Given the description of an element on the screen output the (x, y) to click on. 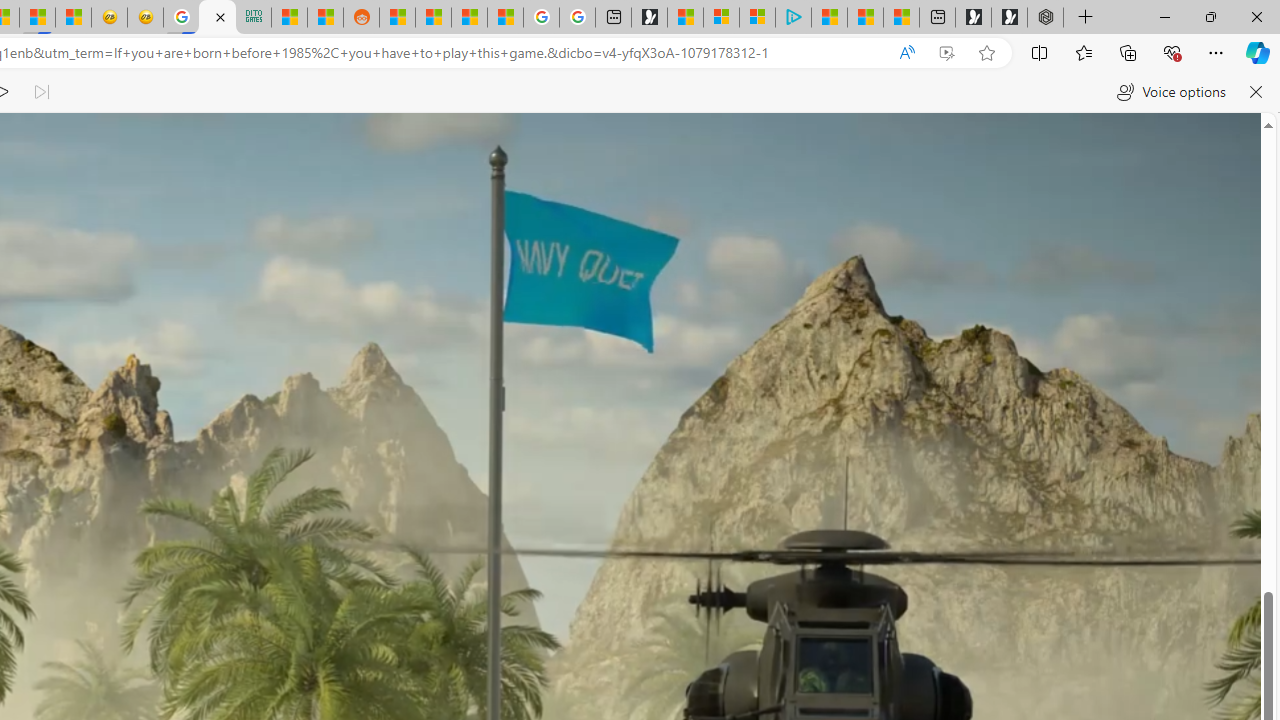
R******* | Trusted Community Engagement and Contributions (397, 17)
Enhance video (946, 53)
